Given the description of an element on the screen output the (x, y) to click on. 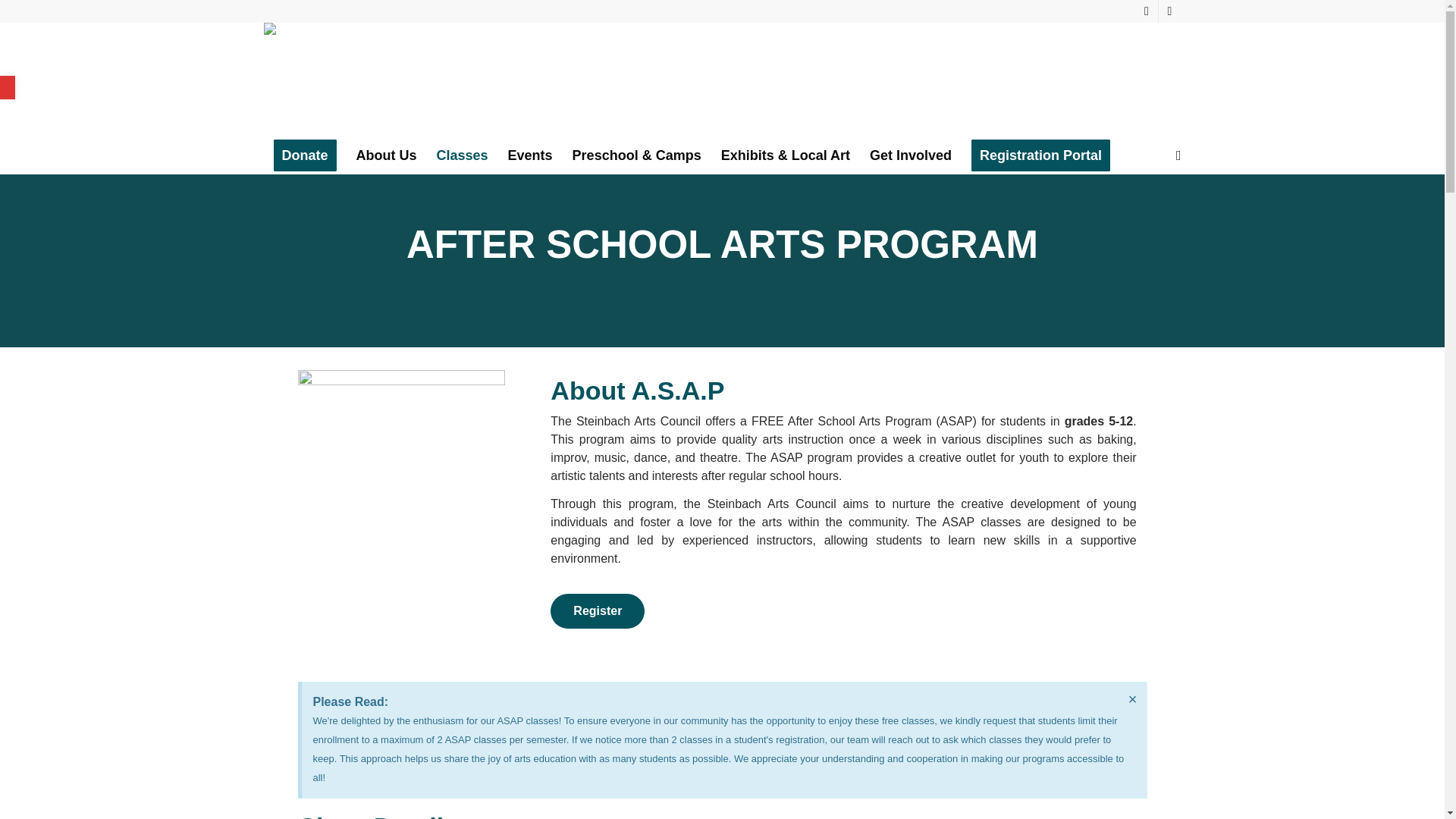
About Us (386, 155)
Facebook (1169, 11)
Donate (304, 155)
Instagram (1146, 11)
Classes (461, 155)
